Given the description of an element on the screen output the (x, y) to click on. 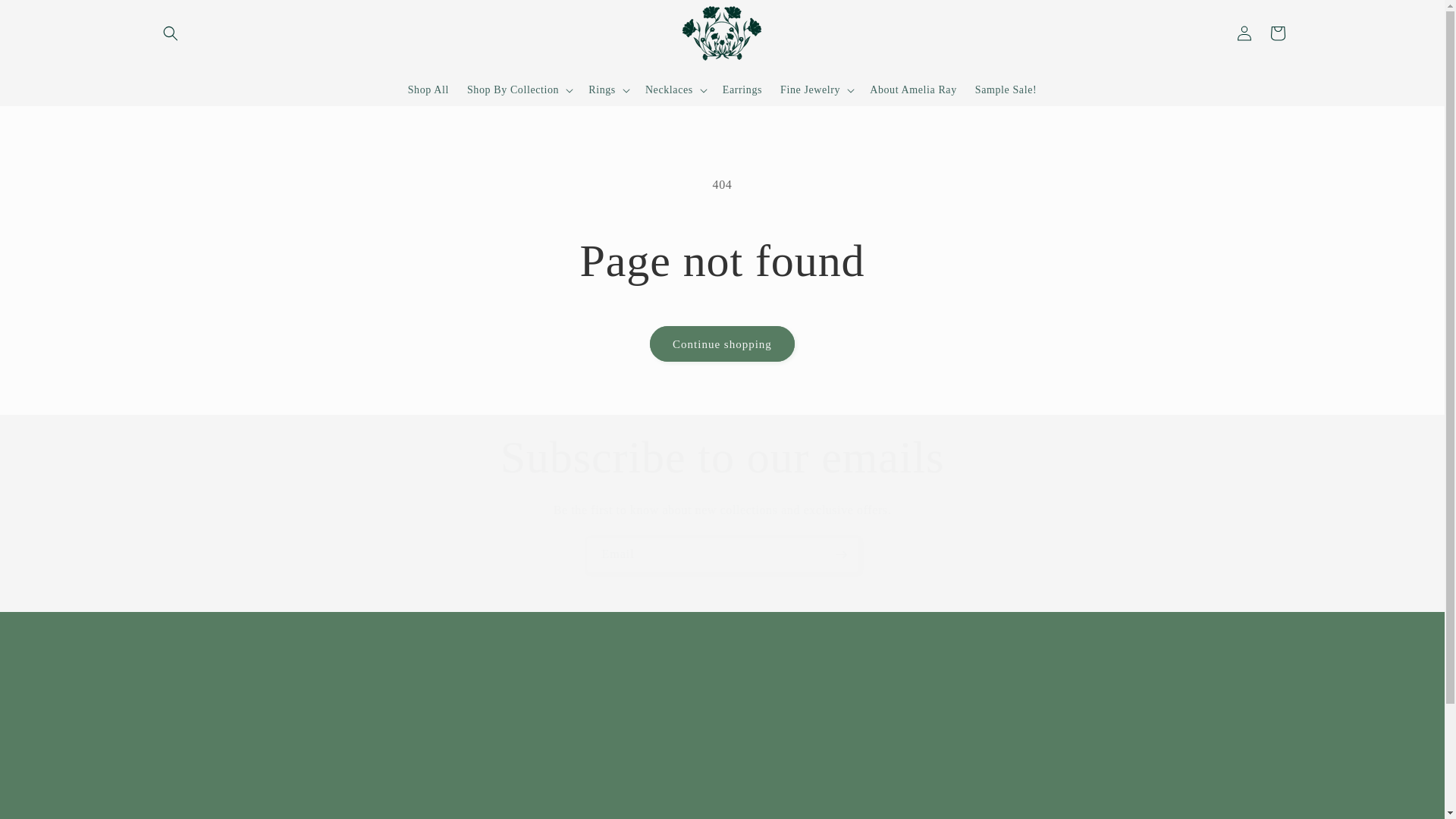
Skip to content (45, 17)
Subscribe to our emails (721, 456)
Email (722, 554)
